Given the description of an element on the screen output the (x, y) to click on. 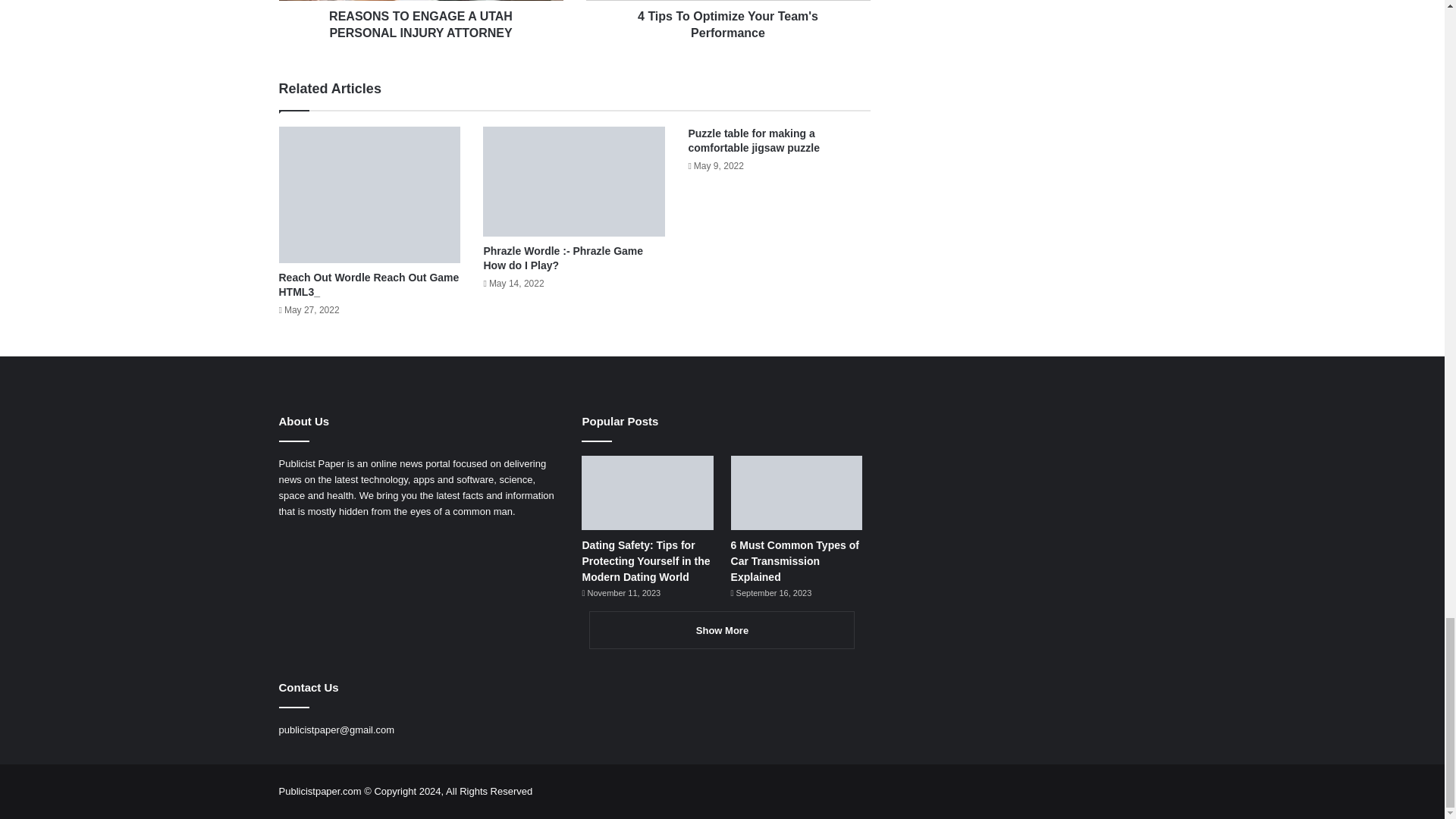
4 Tips To Optimize Your Team's Performance (727, 20)
REASONS TO ENGAGE A UTAH PERSONAL INJURY ATTORNEY (421, 20)
Phrazle Wordle :- Phrazle Game How do I Play? (563, 257)
